Given the description of an element on the screen output the (x, y) to click on. 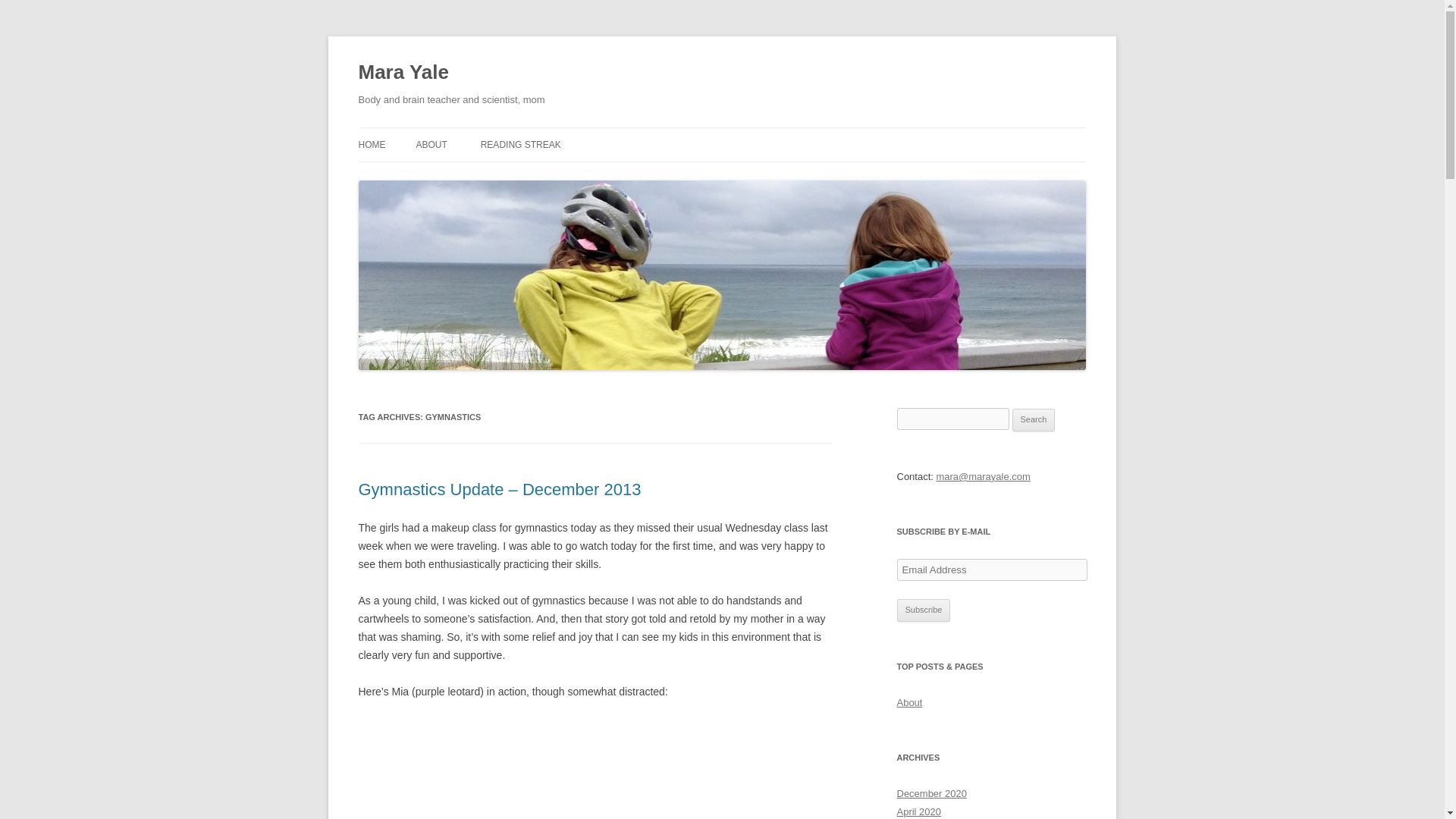
Search (1033, 419)
Search (1033, 419)
READING STREAK (520, 144)
Mara Yale (403, 72)
ABOUT (430, 144)
Subscribe (923, 609)
Mara Yale (403, 72)
